Given the description of an element on the screen output the (x, y) to click on. 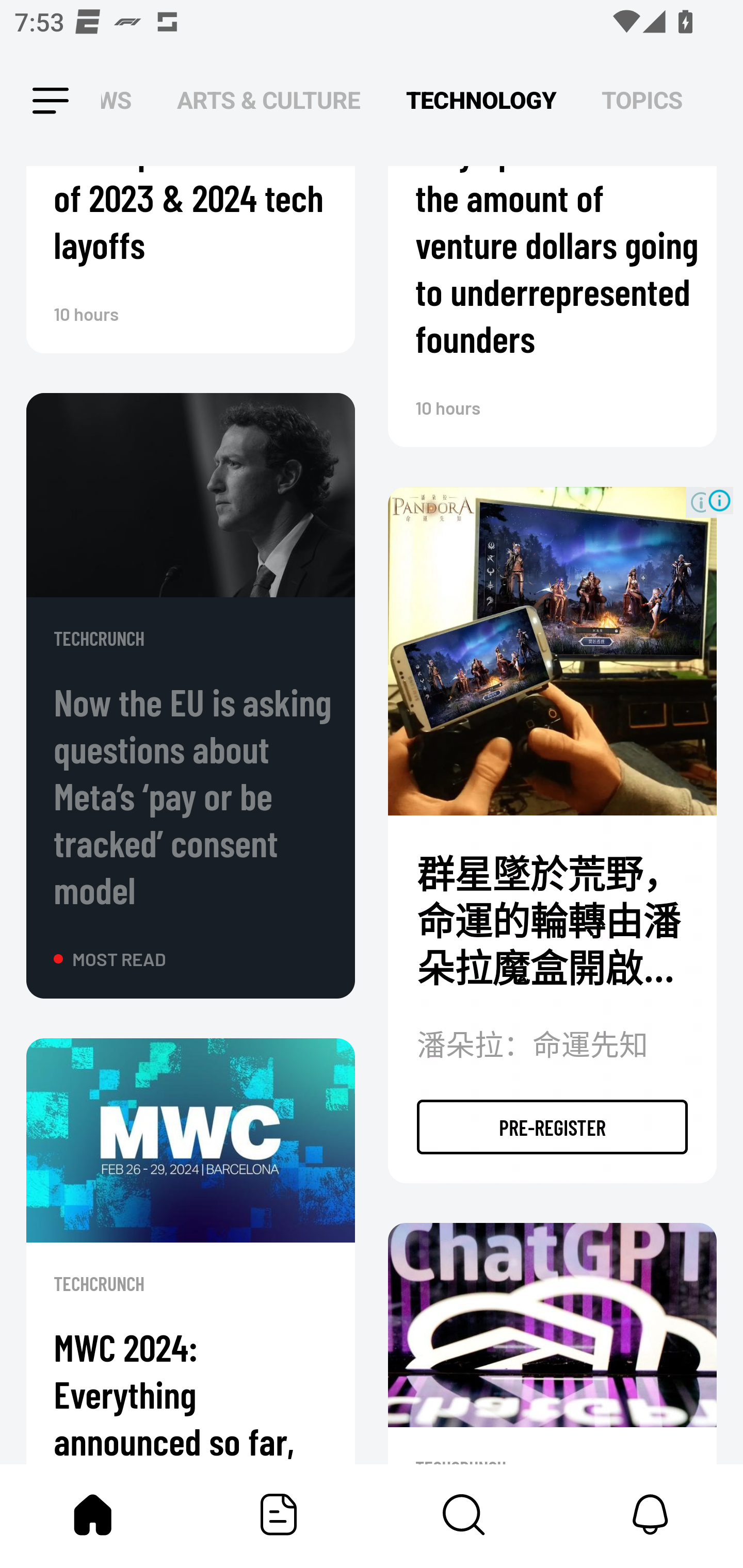
NEWS (121, 100)
ARTS & CULTURE (268, 100)
TOPICS (641, 100)
Ad Choices Icon (719, 500)
Featured (278, 1514)
Content Store (464, 1514)
Notifications (650, 1514)
